Given the description of an element on the screen output the (x, y) to click on. 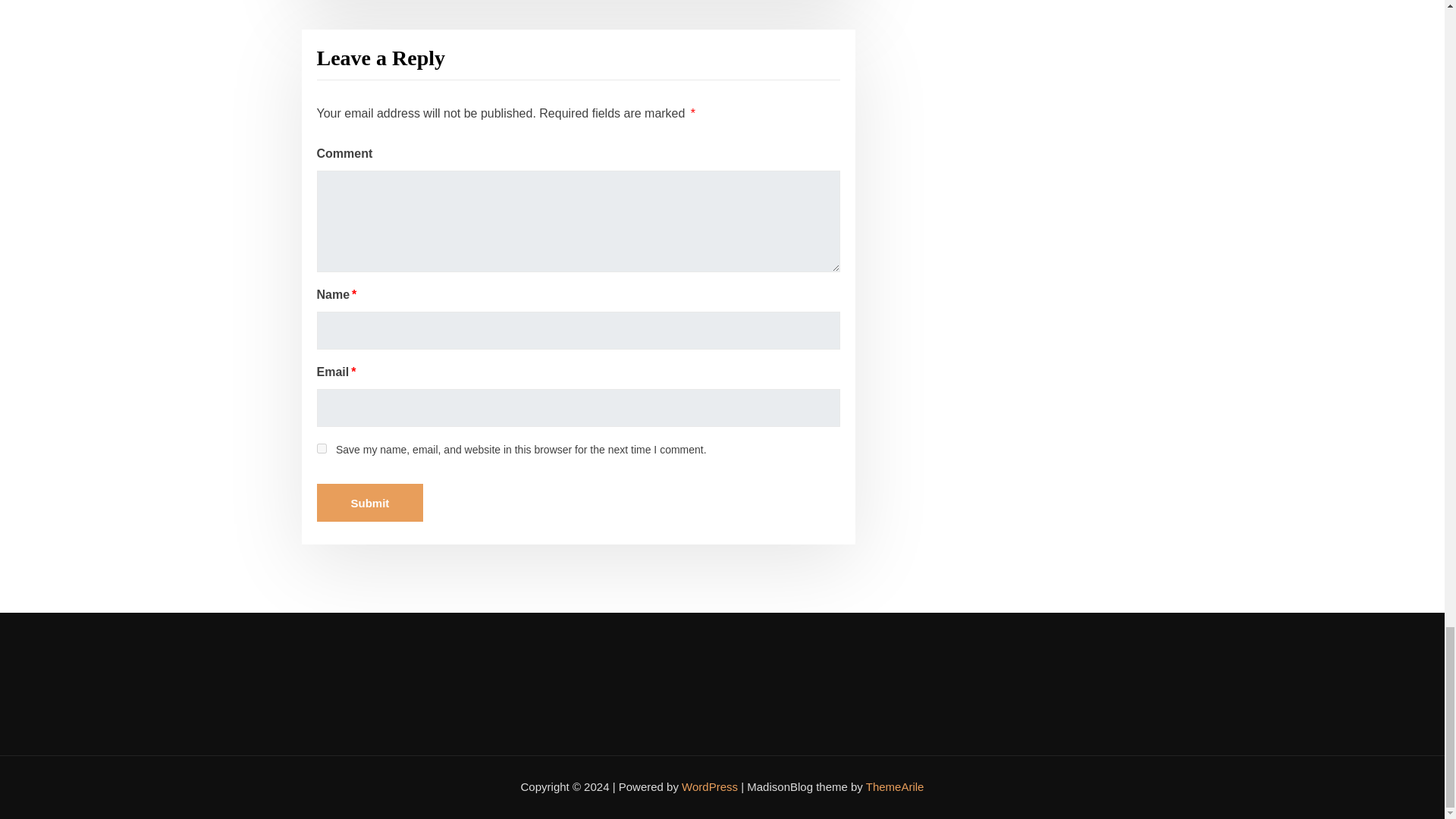
Submit (370, 502)
yes (321, 448)
Submit (370, 502)
